Given the description of an element on the screen output the (x, y) to click on. 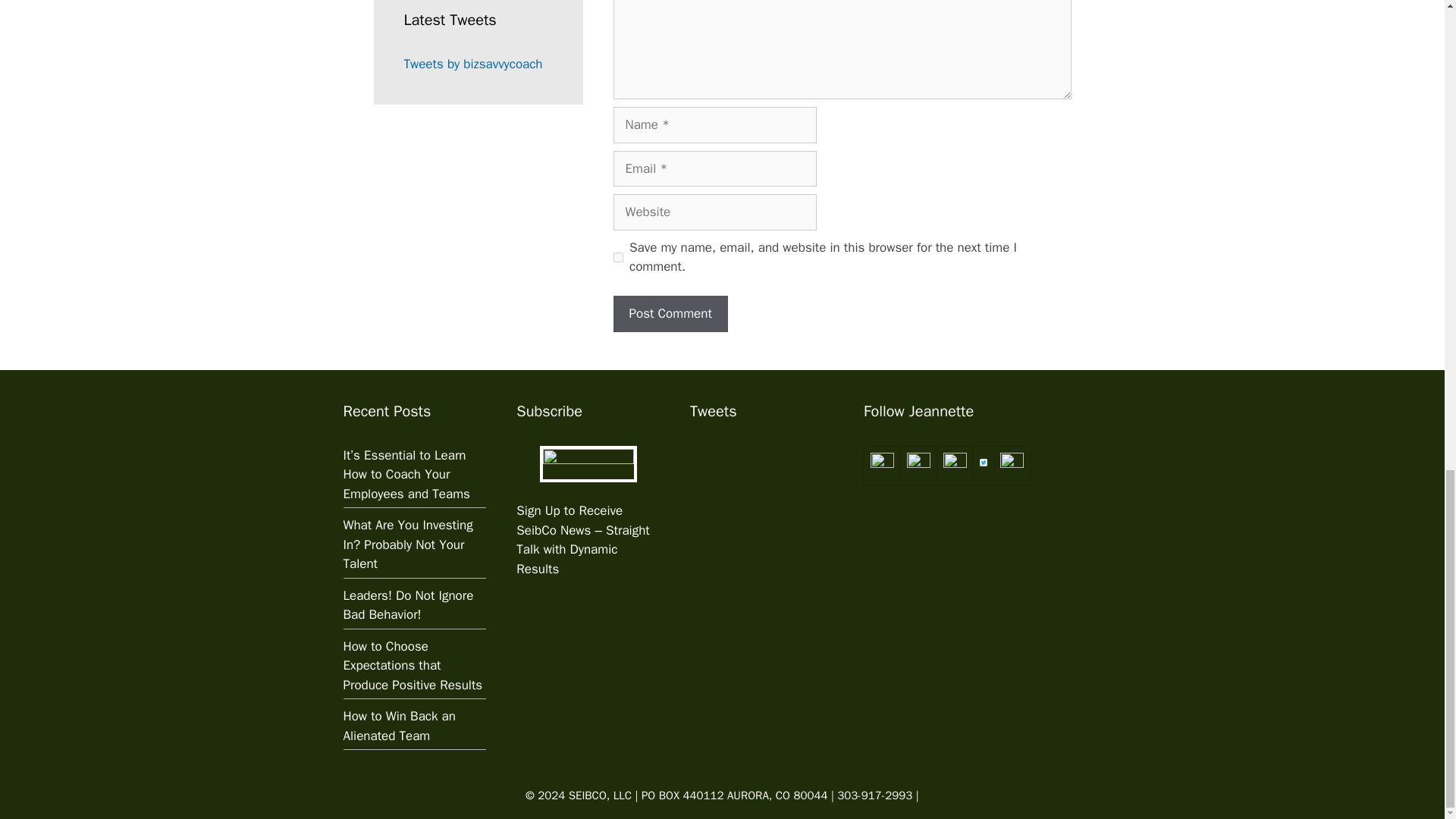
Scroll back to top (1406, 427)
yes (617, 257)
Post Comment (669, 313)
